Given the description of an element on the screen output the (x, y) to click on. 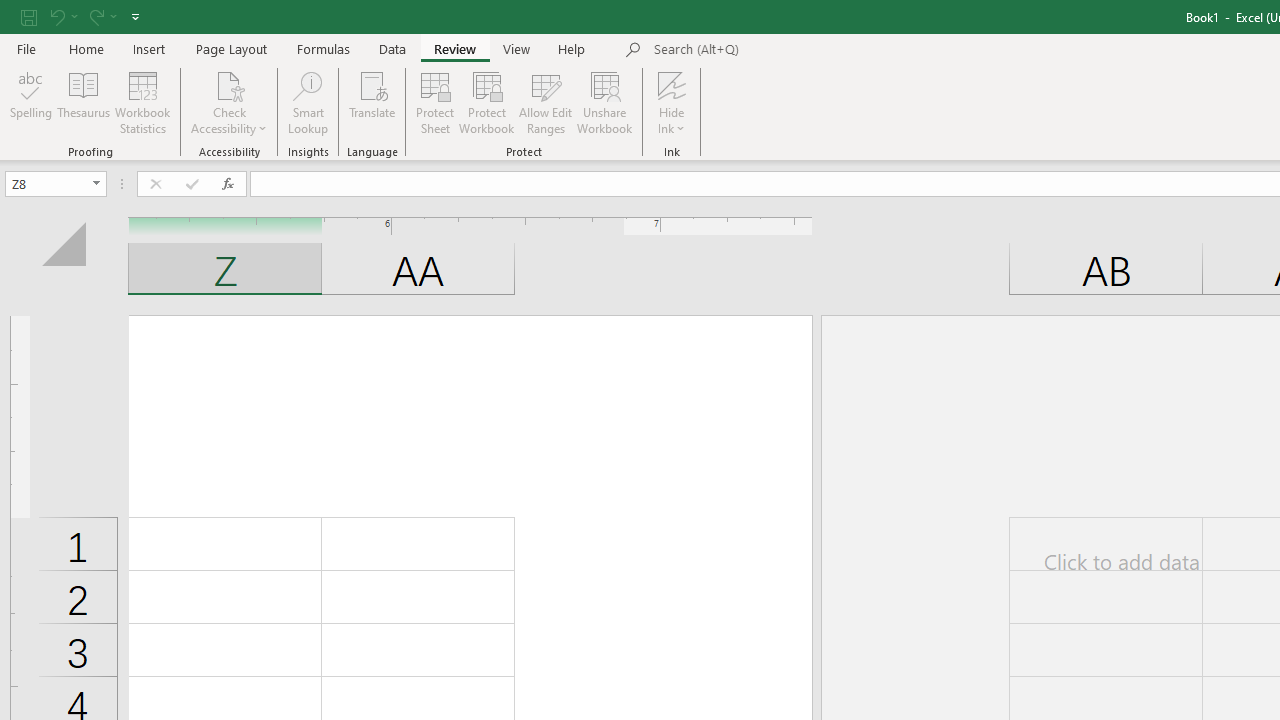
Unshare Workbook (604, 102)
Allow Edit Ranges (545, 102)
